Given the description of an element on the screen output the (x, y) to click on. 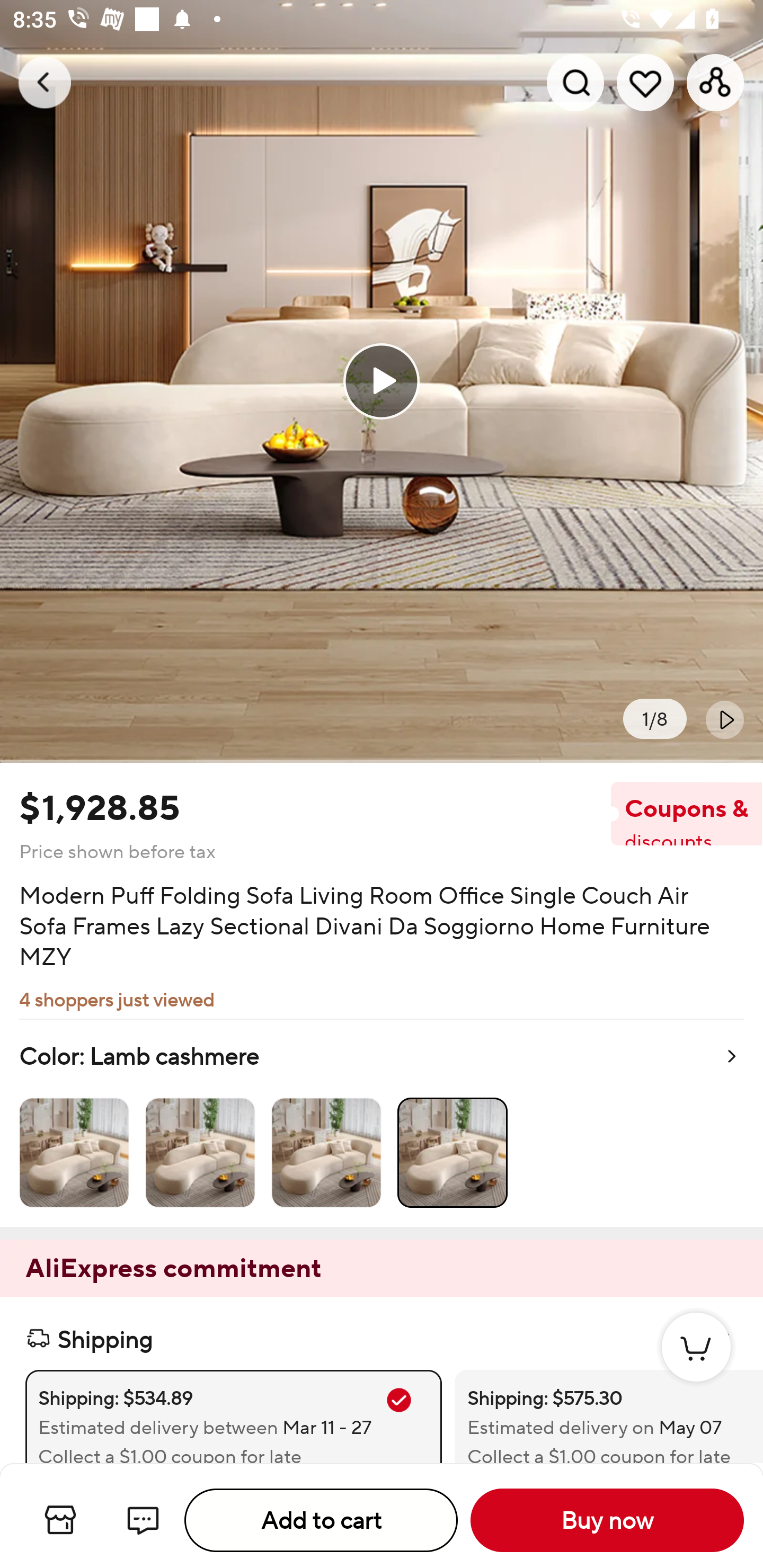
0.0 (381, 381)
Navigate up (44, 82)
 (724, 719)
Color: Lamb cashmere  (381, 1122)
Add to cart (320, 1520)
Buy now (606, 1520)
